Given the description of an element on the screen output the (x, y) to click on. 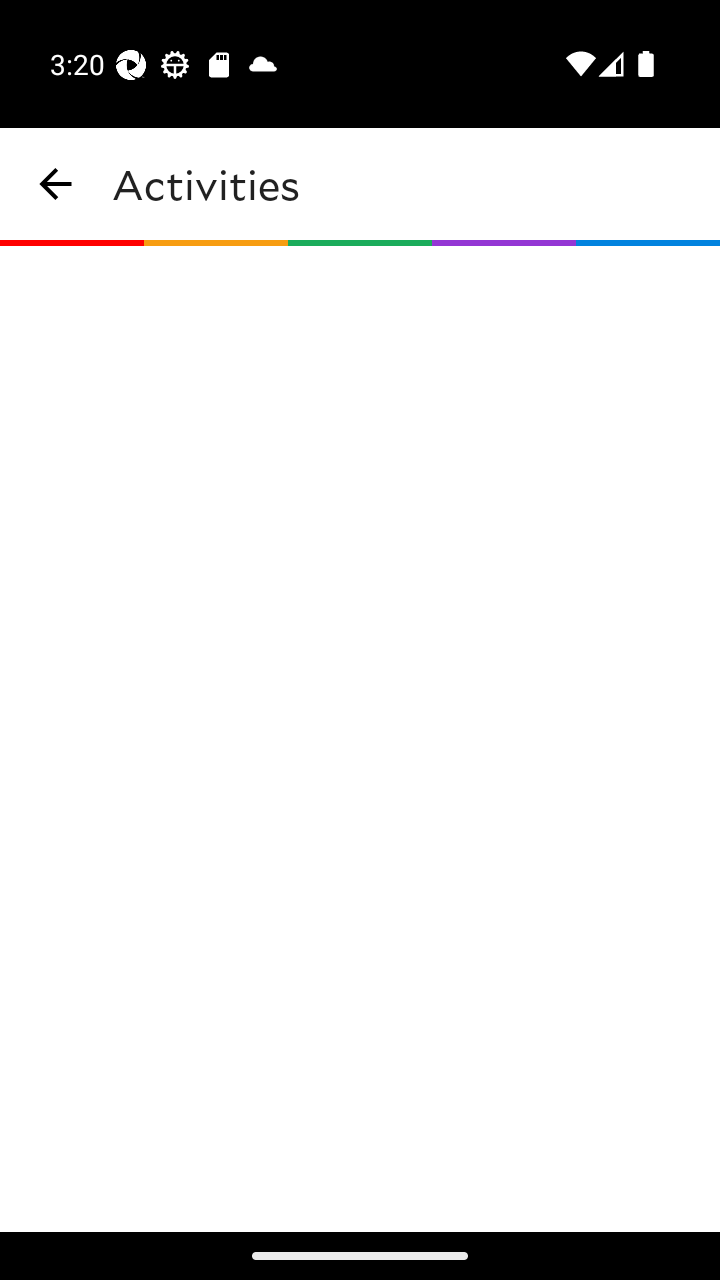
navigation_button (56, 184)
